Given the description of an element on the screen output the (x, y) to click on. 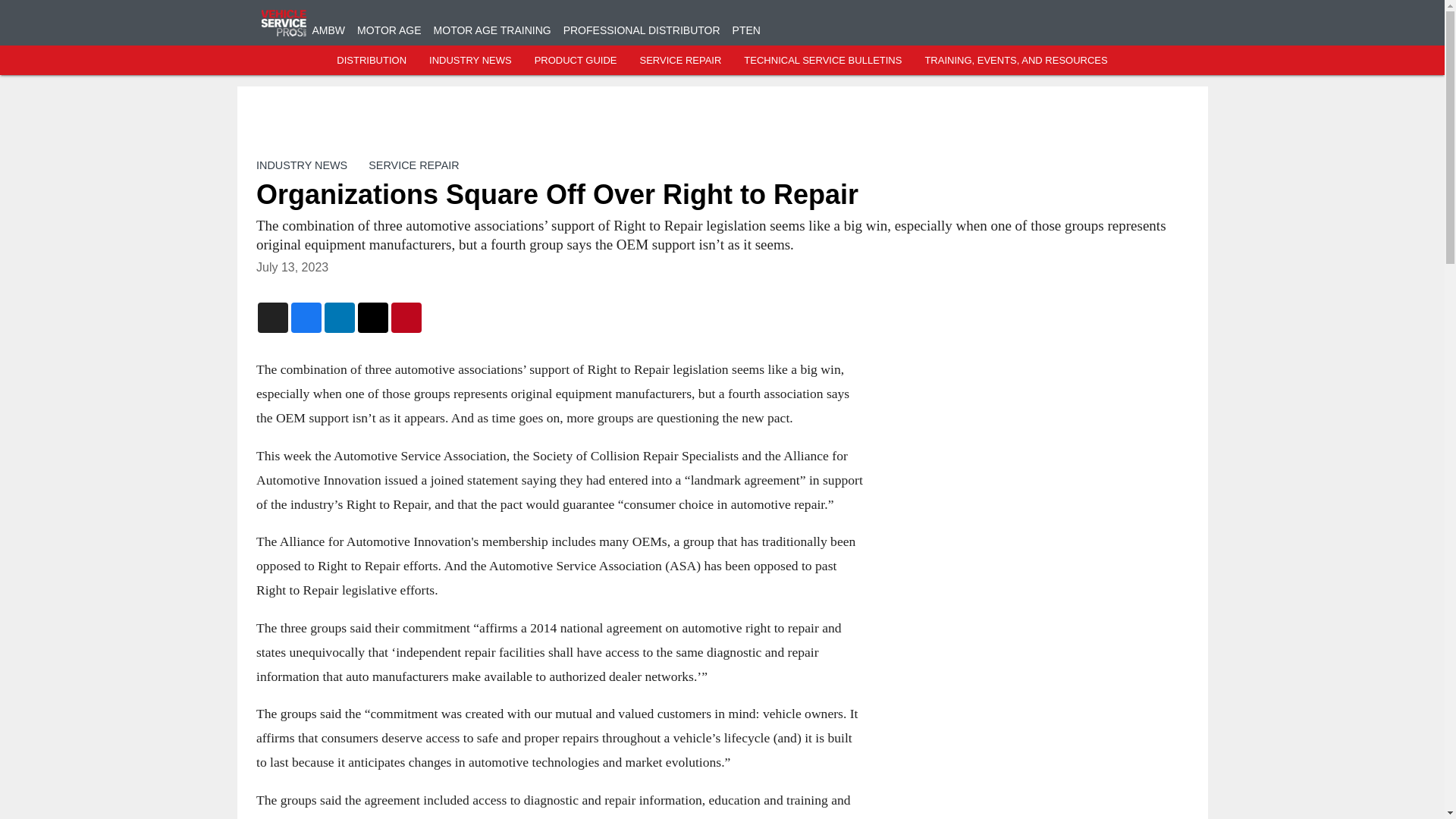
DISTRIBUTION (371, 60)
AMBW (329, 30)
INDUSTRY NEWS (301, 164)
PRODUCT GUIDE (575, 60)
TRAINING, EVENTS, AND RESOURCES (1015, 60)
PTEN (746, 30)
TECHNICAL SERVICE BULLETINS (822, 60)
MOTOR AGE (389, 30)
MOTOR AGE TRAINING (492, 30)
SERVICE REPAIR (413, 164)
INDUSTRY NEWS (470, 60)
PROFESSIONAL DISTRIBUTOR (641, 30)
SERVICE REPAIR (679, 60)
